Given the description of an element on the screen output the (x, y) to click on. 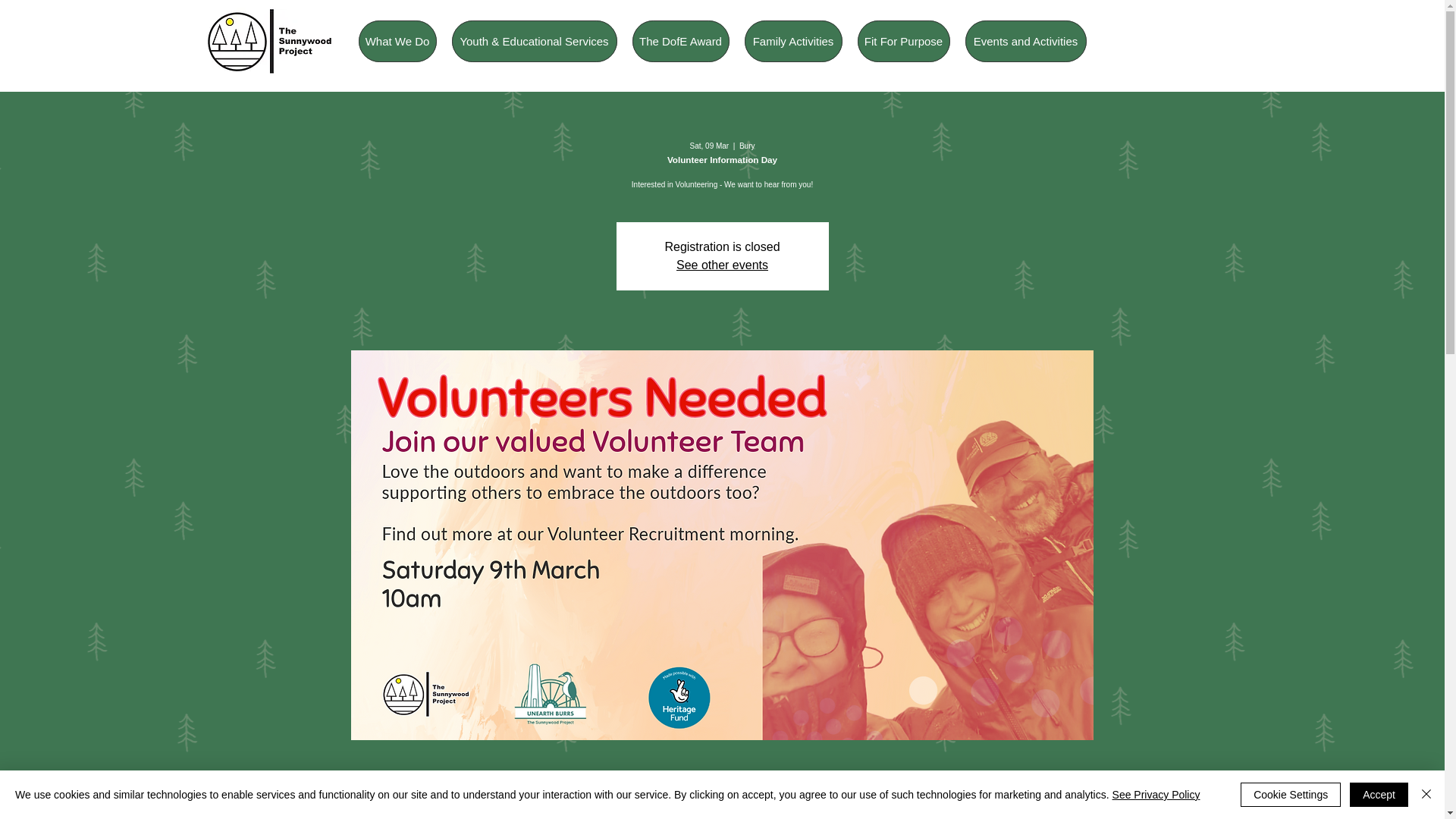
What We Do (396, 41)
Family Activities (793, 41)
Events and Activities (1024, 41)
The DofE Award (680, 41)
See other events (722, 264)
Fit For Purpose (903, 41)
